Given the description of an element on the screen output the (x, y) to click on. 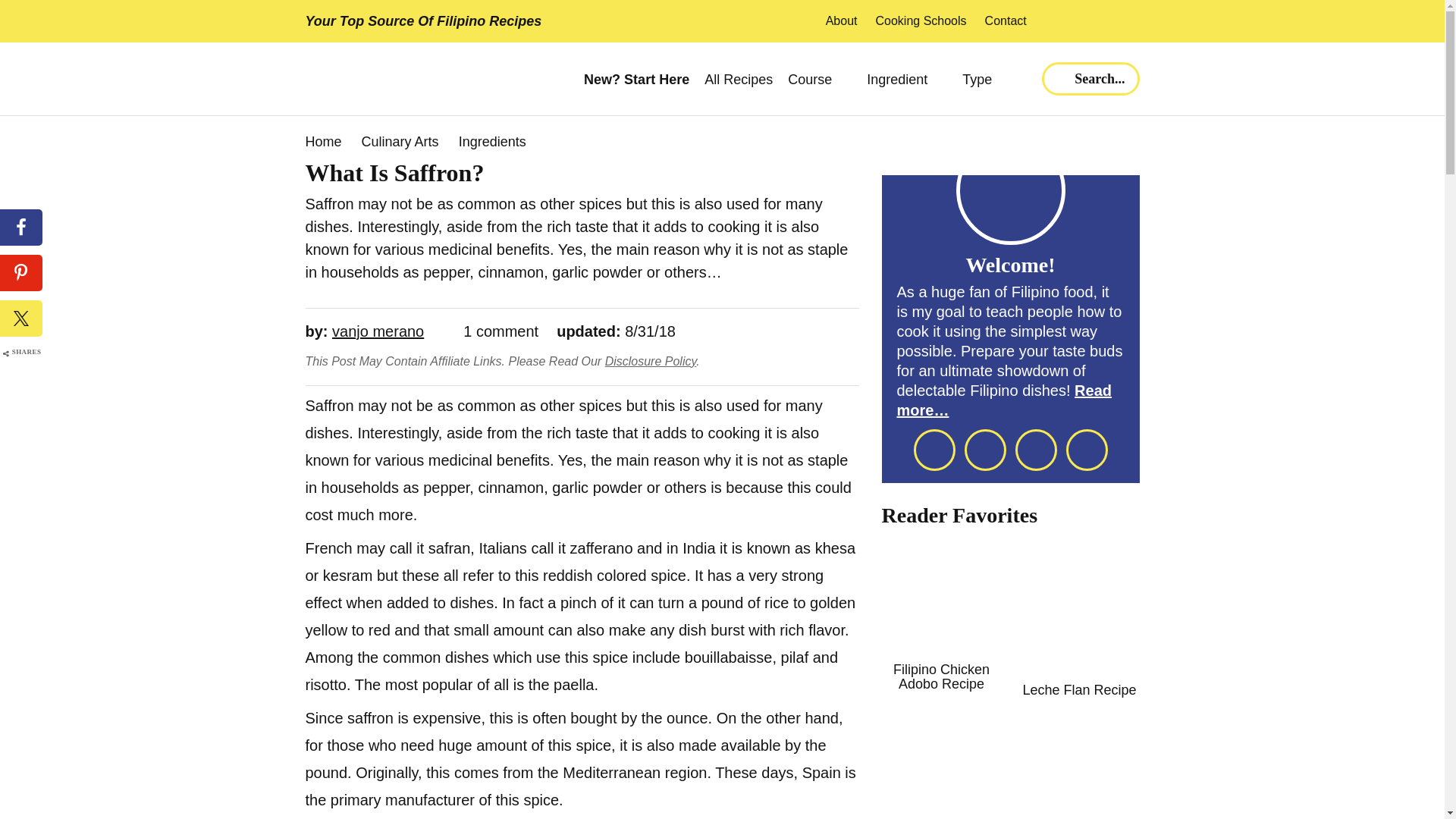
All Recipes (738, 80)
Share on Twitter (21, 318)
Contact (1005, 21)
Culinary Arts (400, 141)
Your Top Source Of Filipino Recipes (422, 20)
Panlasang Pinoy (409, 78)
YouTube (1129, 21)
Search... (1090, 78)
Cooking Schools (920, 21)
